Given the description of an element on the screen output the (x, y) to click on. 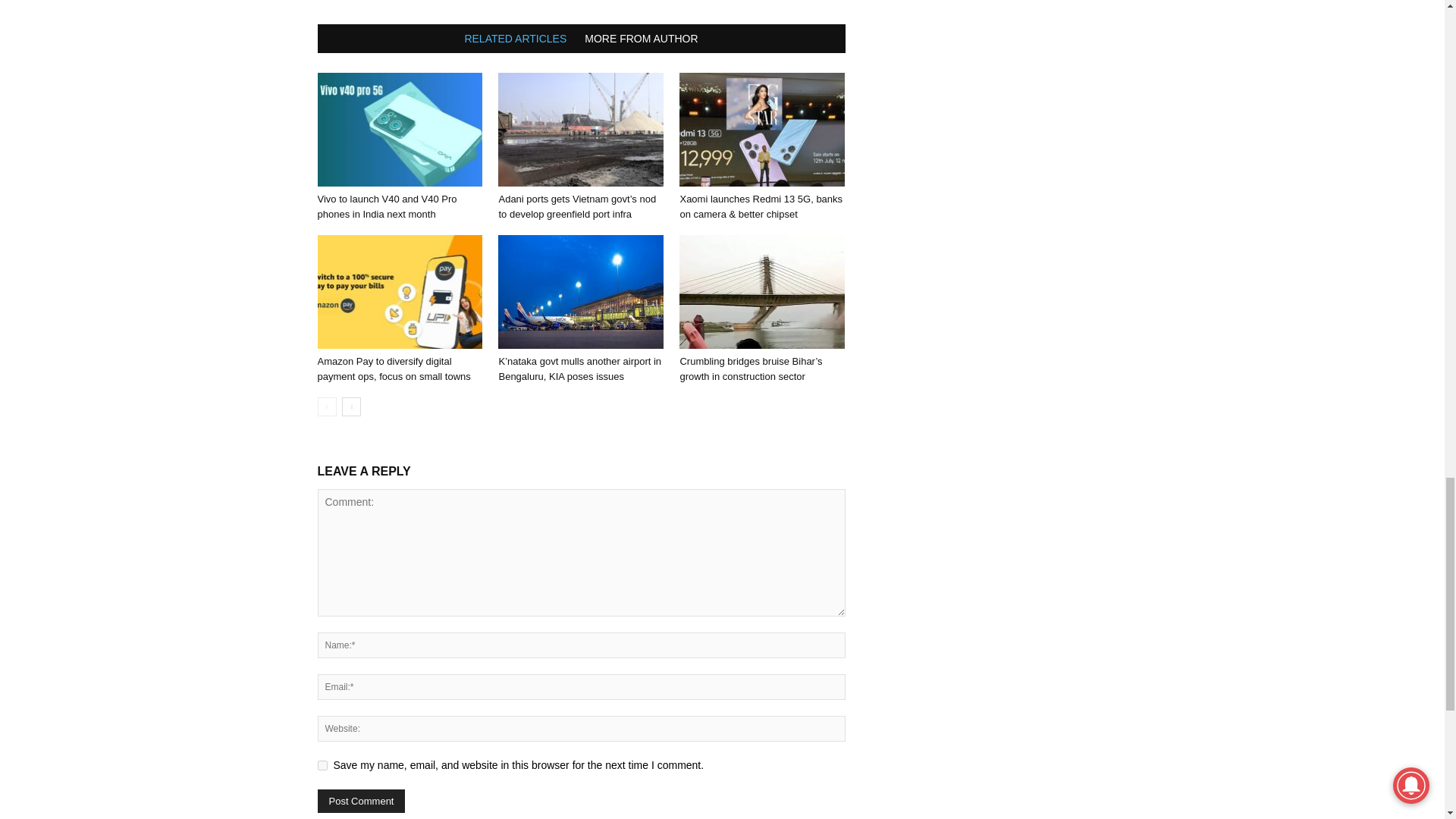
Post Comment (360, 801)
yes (321, 765)
